Given the description of an element on the screen output the (x, y) to click on. 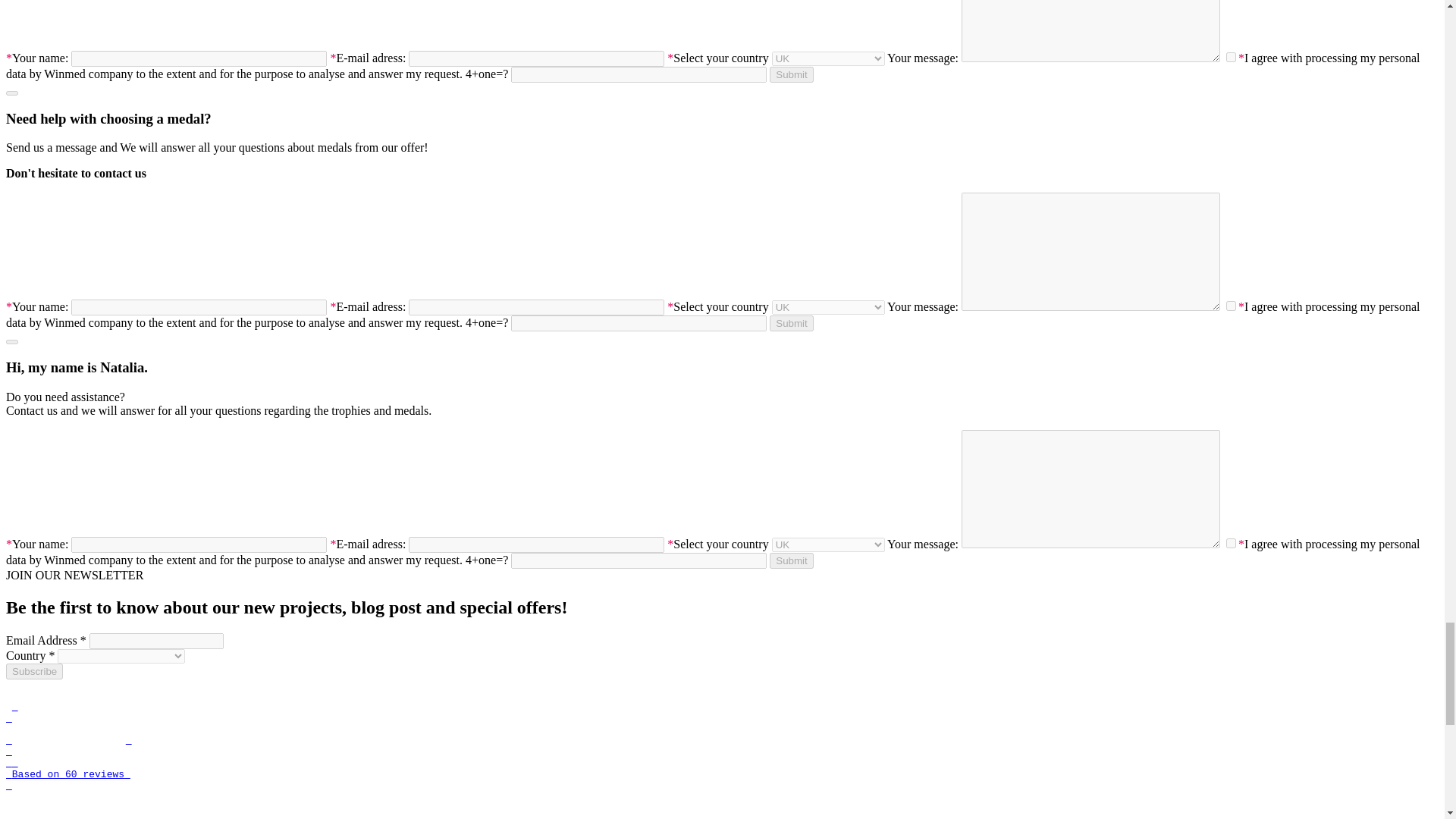
Submit (791, 74)
Submit (791, 323)
1 (1230, 306)
1 (1230, 57)
Subscribe (33, 671)
1 (1230, 542)
Submit (791, 560)
